Given the description of an element on the screen output the (x, y) to click on. 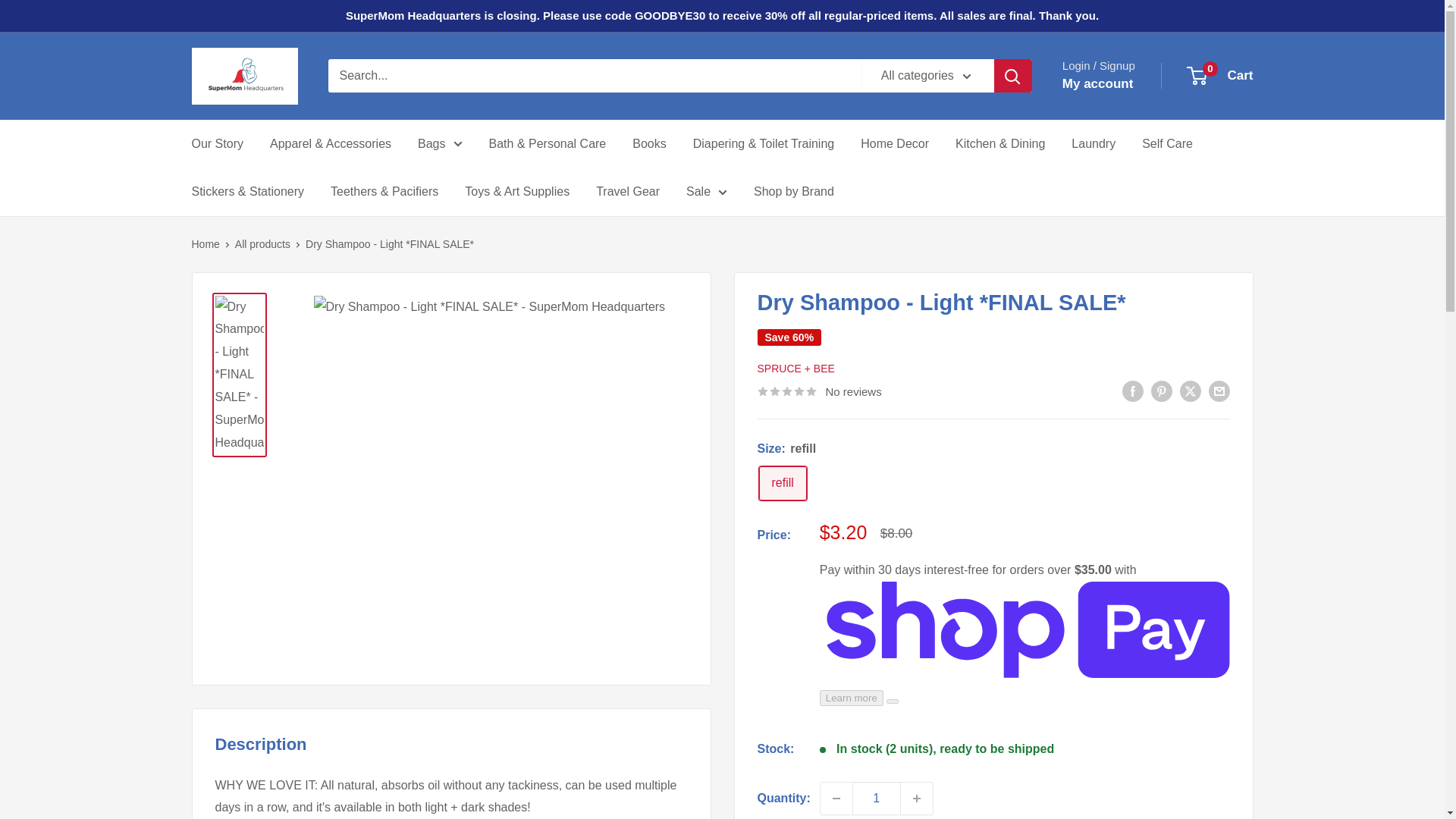
Decrease quantity by 1 (836, 798)
refill (782, 483)
1 (876, 798)
Increase quantity by 1 (917, 798)
